Given the description of an element on the screen output the (x, y) to click on. 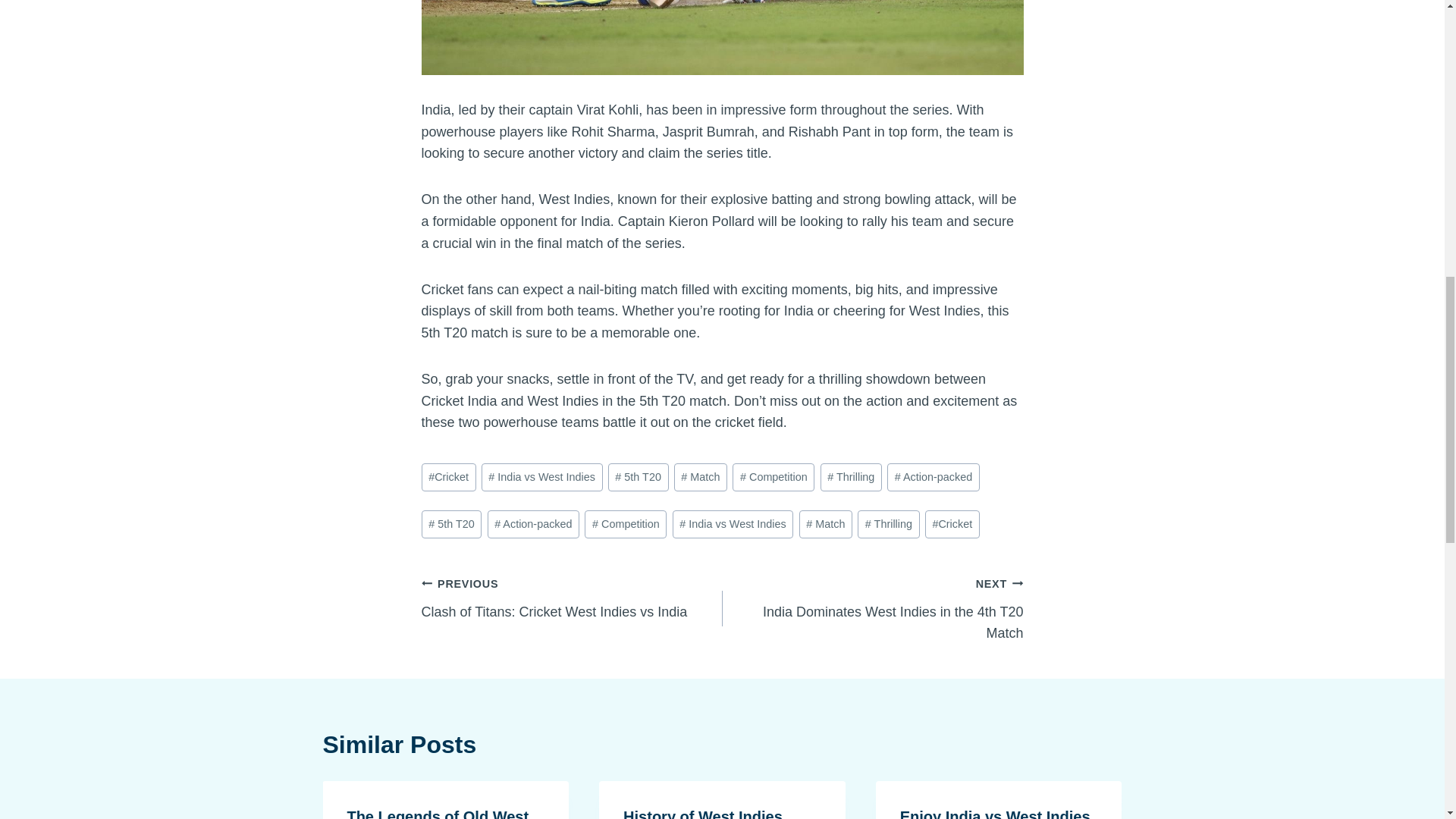
 Match (825, 524)
 Action-packed (932, 477)
Cricket (572, 597)
 Thrilling (449, 477)
 Match (887, 524)
 India vs West Indies (700, 477)
 Competition (732, 524)
 5th T20 (772, 477)
 Action-packed (451, 524)
 India vs West Indies (532, 524)
 Competition (541, 477)
 Thrilling (625, 524)
 5th T20 (851, 477)
